Given the description of an element on the screen output the (x, y) to click on. 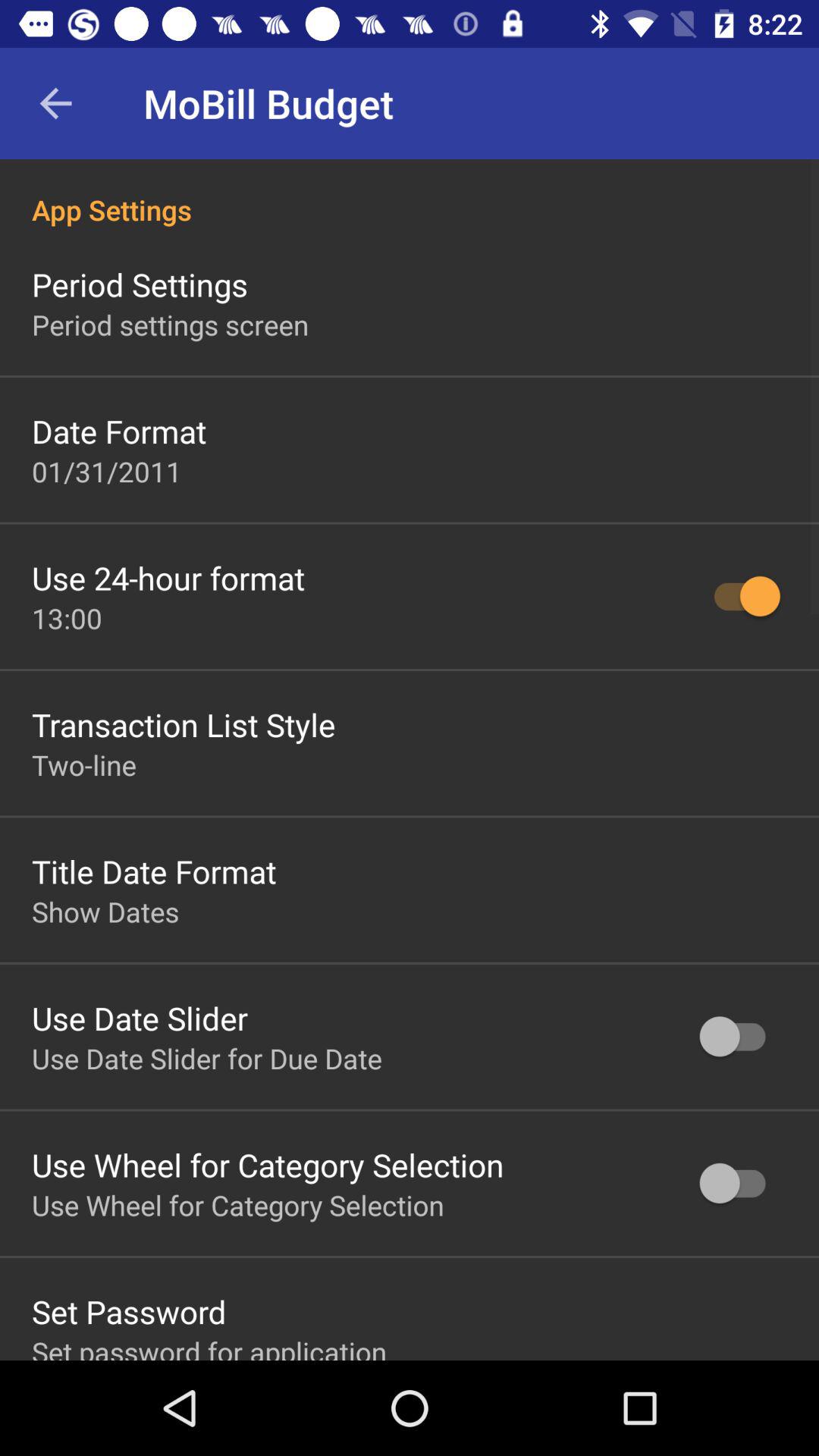
choose the icon above the use 24 hour (106, 471)
